Given the description of an element on the screen output the (x, y) to click on. 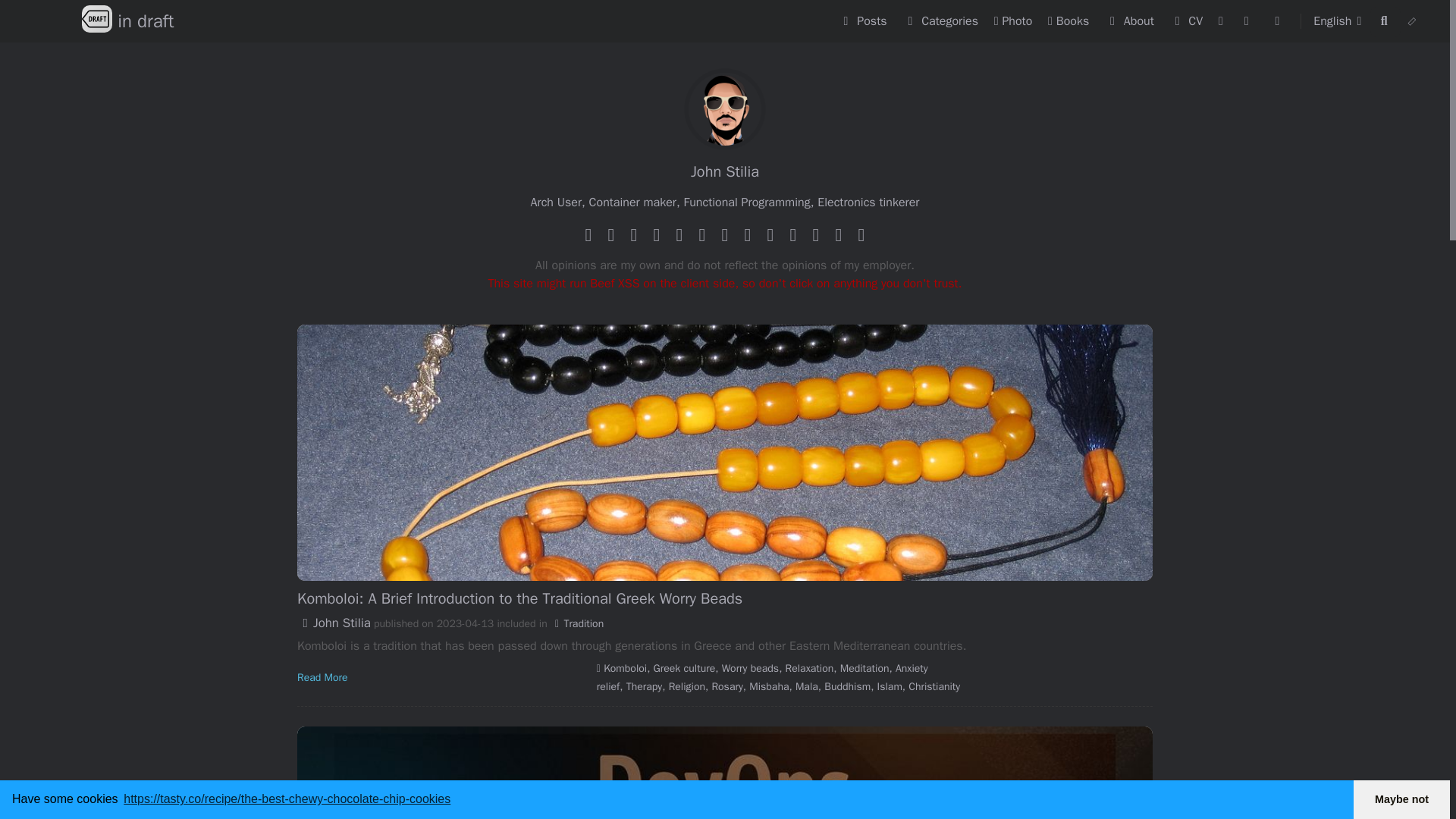
Photo (1014, 20)
in draft (127, 20)
Books (1070, 20)
GitHub (1278, 20)
Categories (941, 20)
Select Language (1341, 20)
in draft (1341, 20)
About (127, 20)
Books (1131, 20)
Posts (1070, 20)
Switch Theme (863, 20)
CV (1412, 20)
Pypi (1188, 20)
Photo (1248, 20)
